Given the description of an element on the screen output the (x, y) to click on. 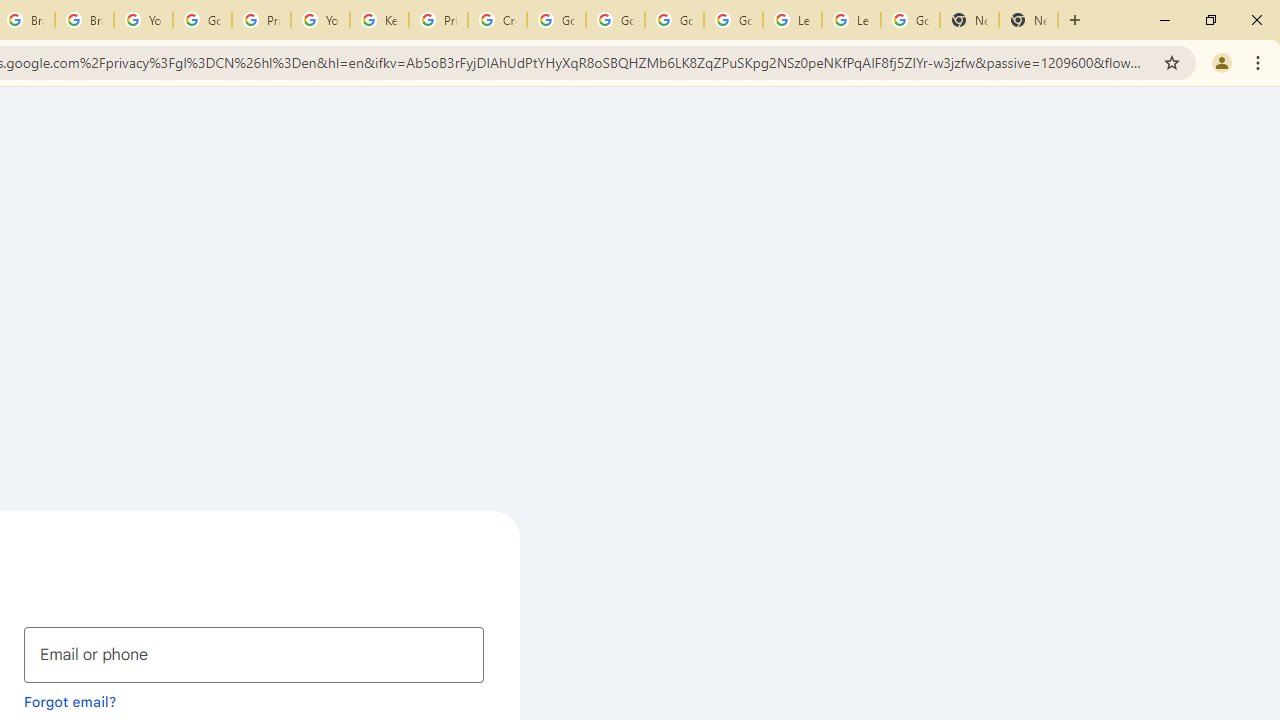
Google Account Help (674, 20)
Forgot email? (70, 701)
YouTube (319, 20)
Google Account (909, 20)
Google Account Help (556, 20)
Google Account Help (615, 20)
Create your Google Account (497, 20)
New Tab (969, 20)
